Given the description of an element on the screen output the (x, y) to click on. 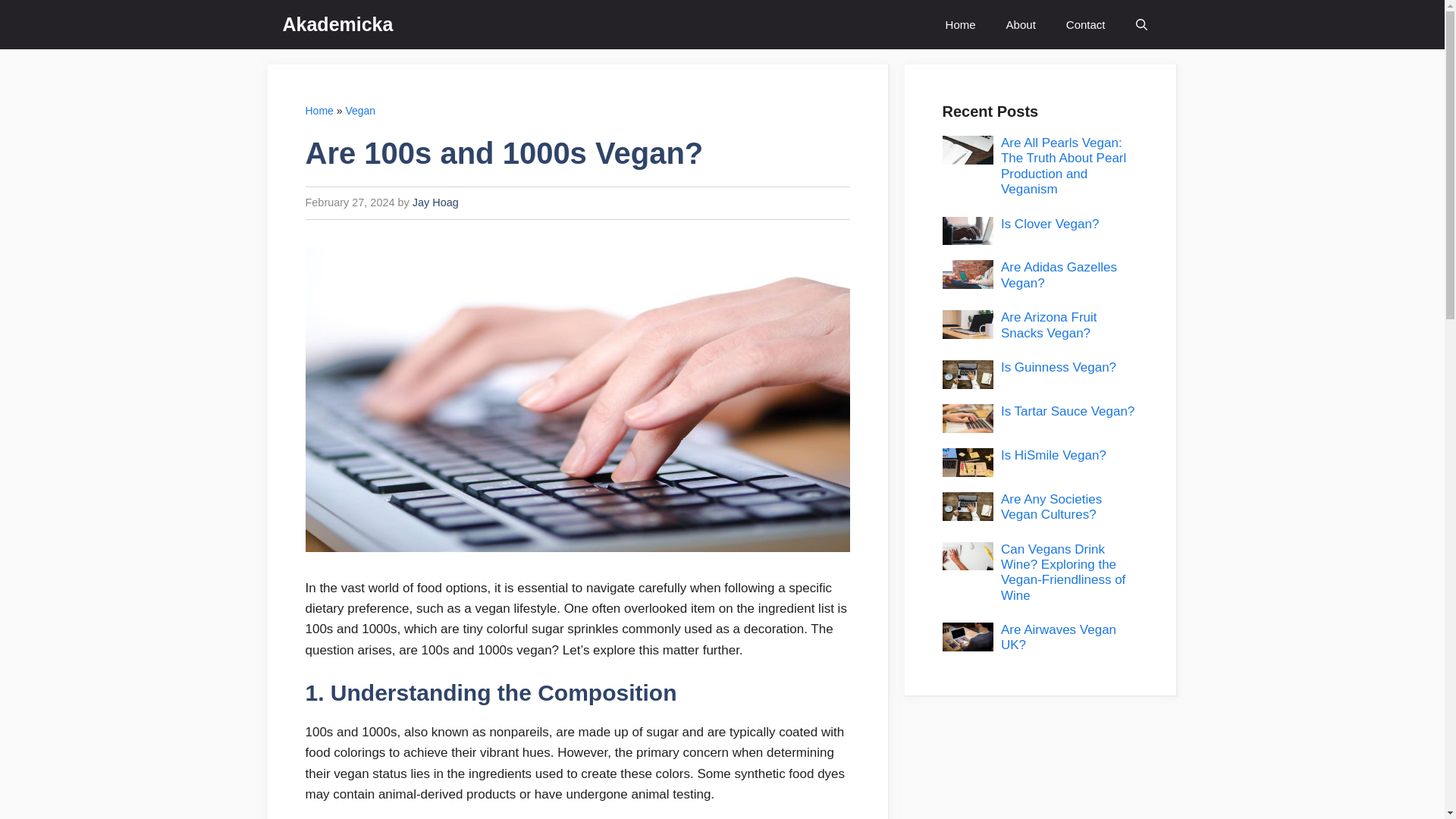
Is Tartar Sauce Vegan? (1067, 411)
Is Clover Vegan? (1050, 223)
Home (960, 24)
Is HiSmile Vegan? (1053, 454)
Are Adidas Gazelles Vegan? (1058, 274)
Home (318, 110)
View all posts by Jay Hoag (435, 202)
Contact (1086, 24)
Are Airwaves Vegan UK? (1058, 636)
Jay Hoag (435, 202)
Akademicka (337, 24)
Vegan (360, 110)
About (1021, 24)
